Given the description of an element on the screen output the (x, y) to click on. 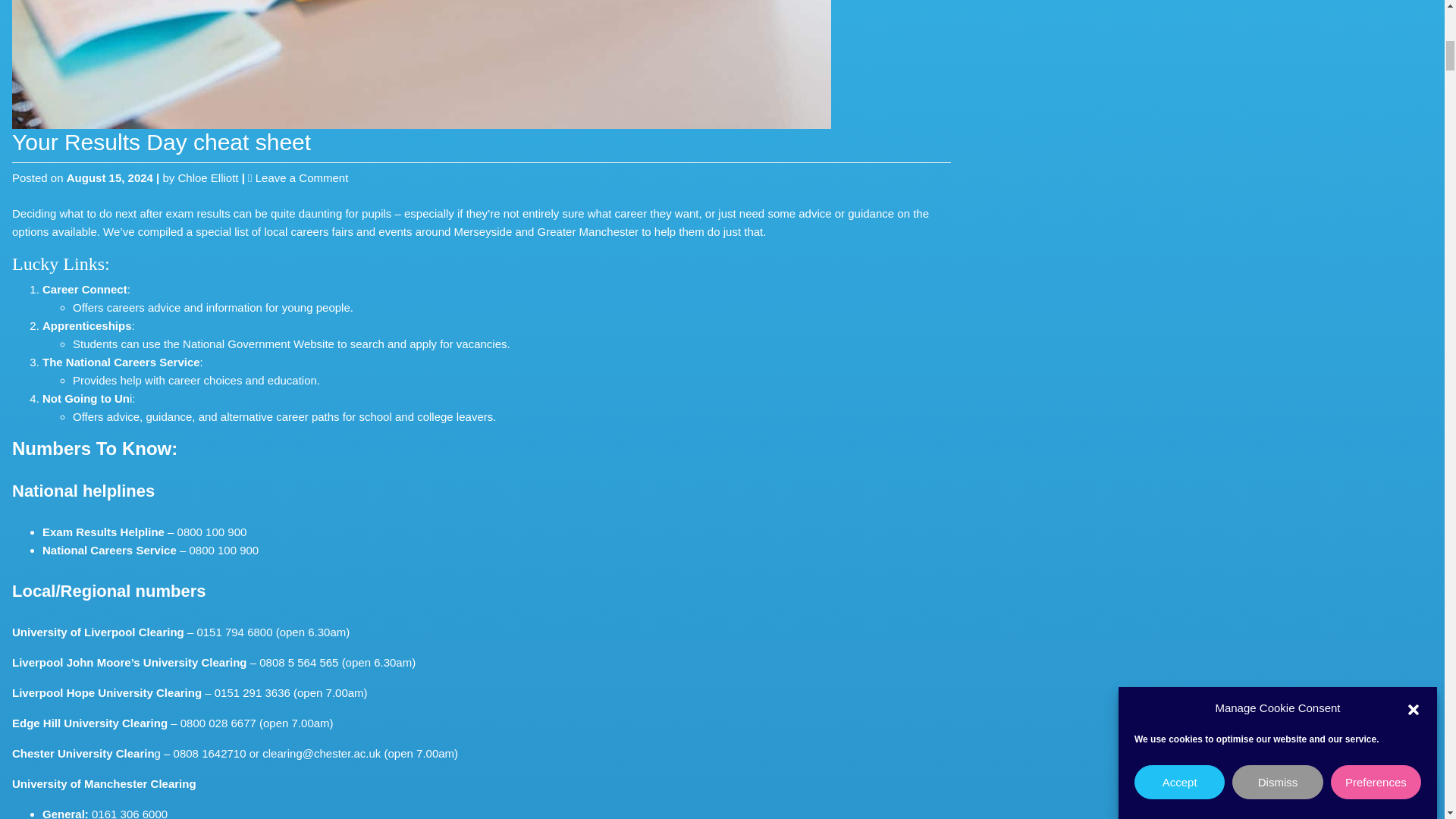
Dismiss (1276, 50)
Accept (1179, 103)
Preferences (1375, 25)
Apprenticeships (302, 177)
Career Connect (87, 325)
The National Careers Service (85, 288)
August 15, 2024 (121, 361)
Not Going to Uni (109, 177)
Chloe Elliott (87, 398)
